Given the description of an element on the screen output the (x, y) to click on. 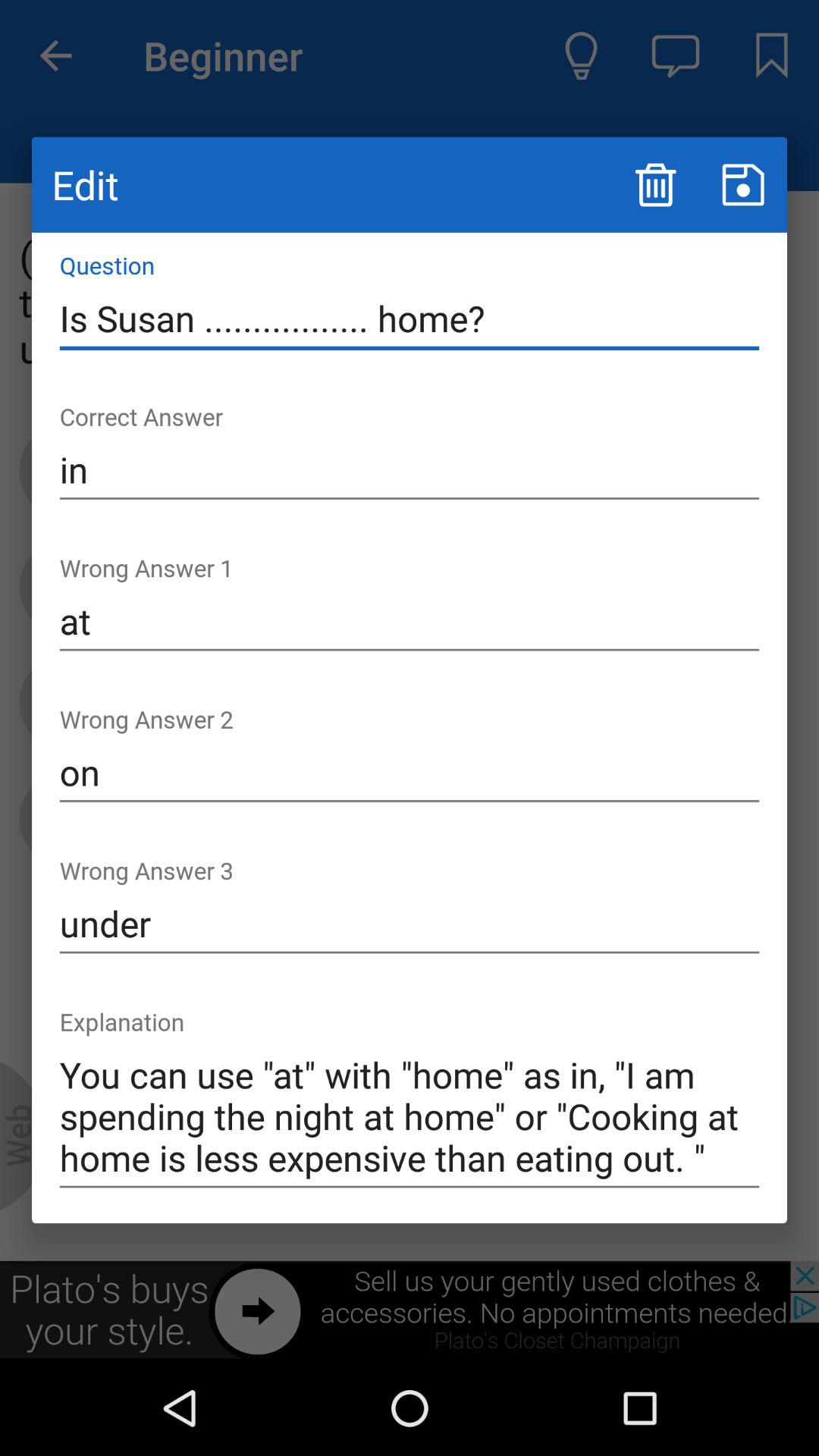
open the icon below on item (409, 924)
